Given the description of an element on the screen output the (x, y) to click on. 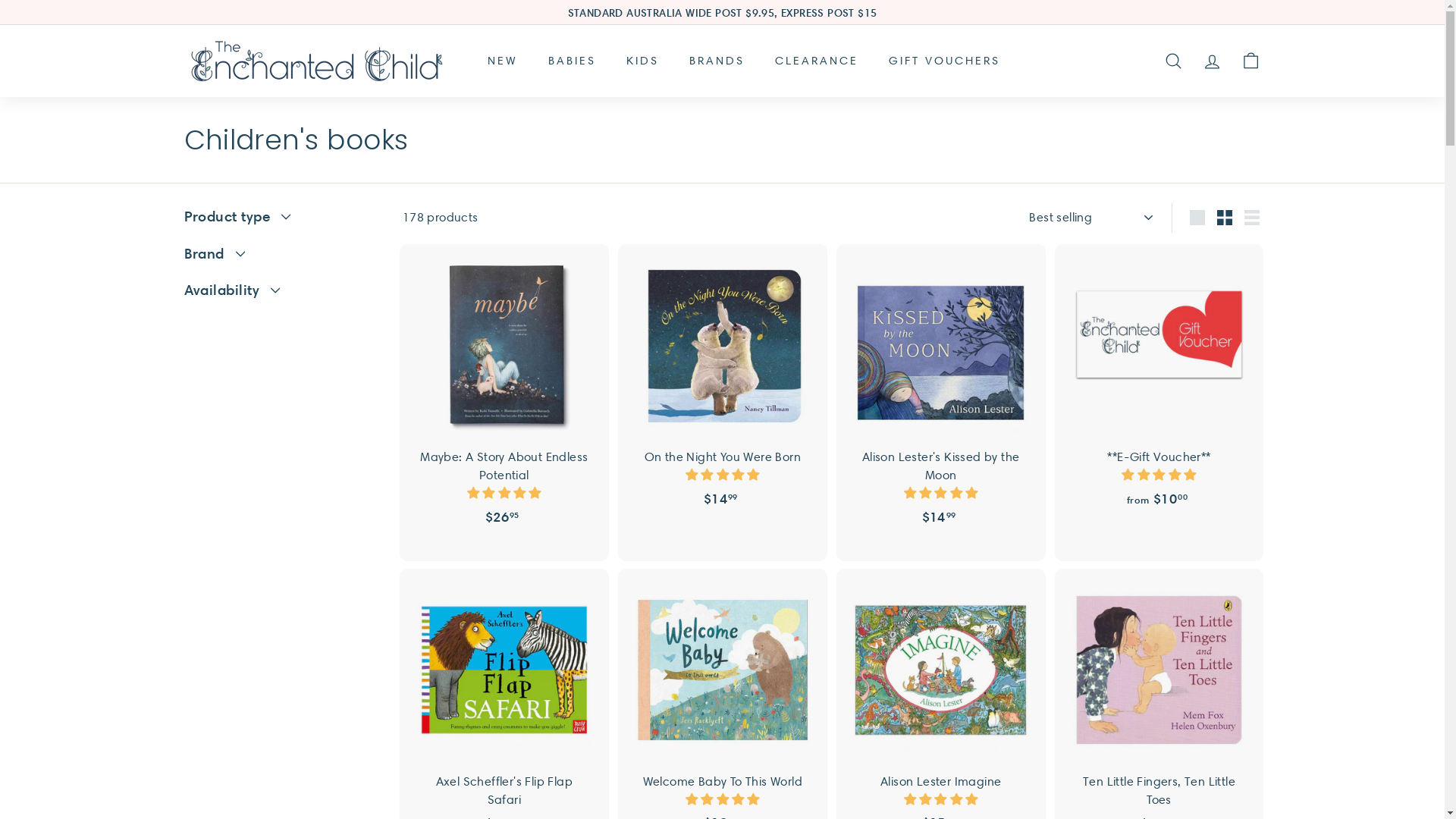
SEARCH Element type: text (1173, 60)
List Element type: text (1251, 217)
Small Element type: text (1224, 217)
Availability Element type: text (280, 294)
Alison Lester's Kissed by the Moon
$1499
$14.99 Element type: text (940, 402)
KIDS Element type: text (642, 60)
**E-Gift Voucher**
from $1000
$10.00 Element type: text (1159, 393)
Product type Element type: text (280, 220)
Brand Element type: text (280, 257)
GIFT VOUCHERS Element type: text (944, 60)
BABIES Element type: text (571, 60)
BRANDS Element type: text (716, 60)
Large Element type: text (1197, 217)
ACCOUNT Element type: text (1211, 60)
On the Night You Were Born
$1499
$14.99 Element type: text (722, 393)
NEW Element type: text (501, 60)
Maybe: A Story About Endless Potential
$2695
$26.95 Element type: text (503, 402)
CLEARANCE Element type: text (816, 60)
